Given the description of an element on the screen output the (x, y) to click on. 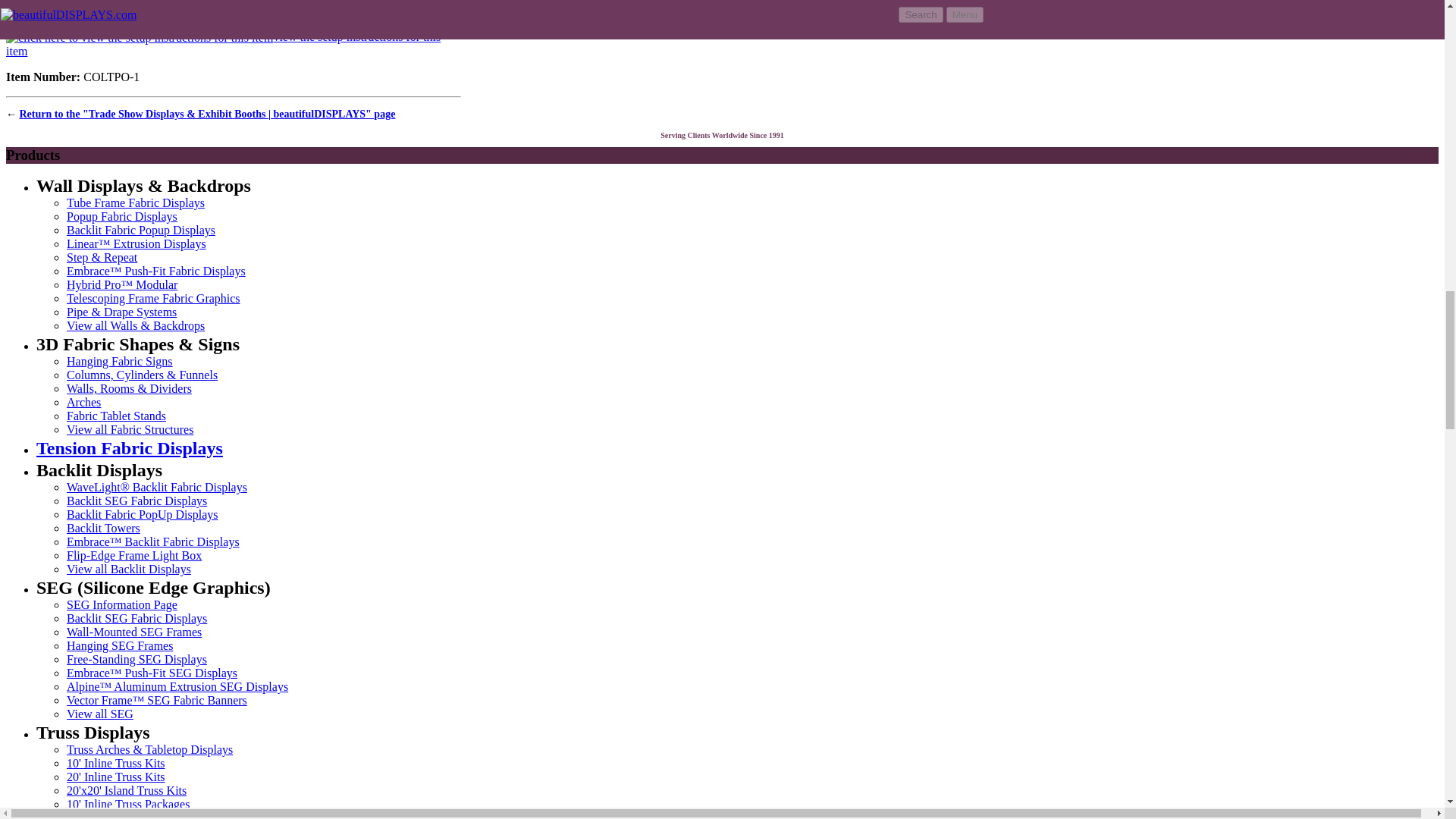
Tube Frame Fabric Displays (135, 202)
view the setup instructions for this item (223, 43)
Popup Fabric Displays (121, 215)
click here to view the setup instructions for this item (139, 38)
click here to view the setup instructions for this item (223, 43)
